Given the description of an element on the screen output the (x, y) to click on. 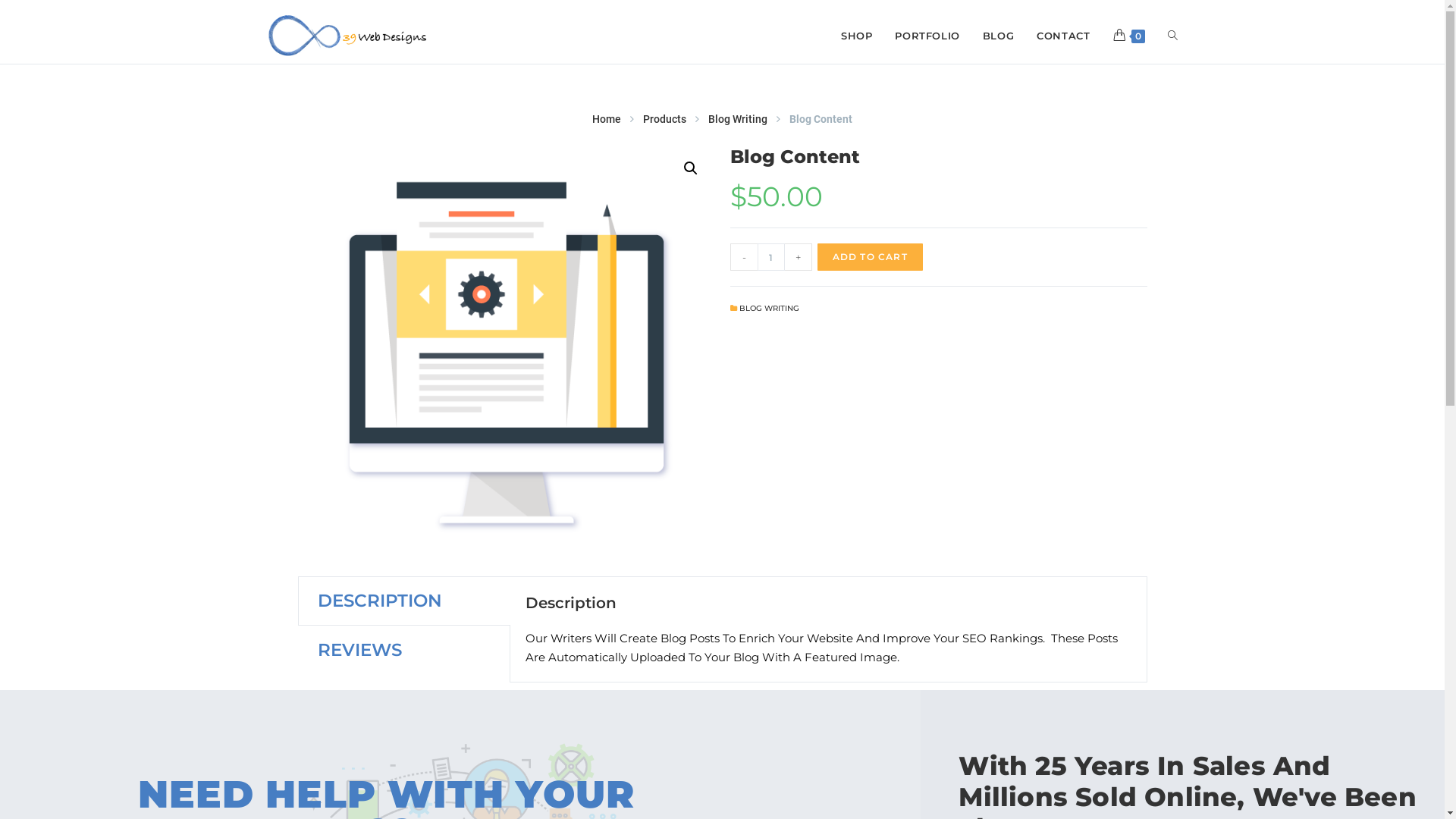
SHOP Element type: text (856, 35)
ADD TO CART Element type: text (869, 256)
PORTFOLIO Element type: text (926, 35)
Home Element type: text (606, 118)
BLOG WRITING Element type: text (768, 308)
Products Element type: text (664, 118)
- Element type: text (742, 256)
BLOG Element type: text (998, 35)
+ Element type: text (797, 256)
Blog Writing Element type: text (737, 118)
CONTACT Element type: text (1063, 35)
Qty Element type: hover (770, 256)
0 Element type: text (1128, 35)
